Given the description of an element on the screen output the (x, y) to click on. 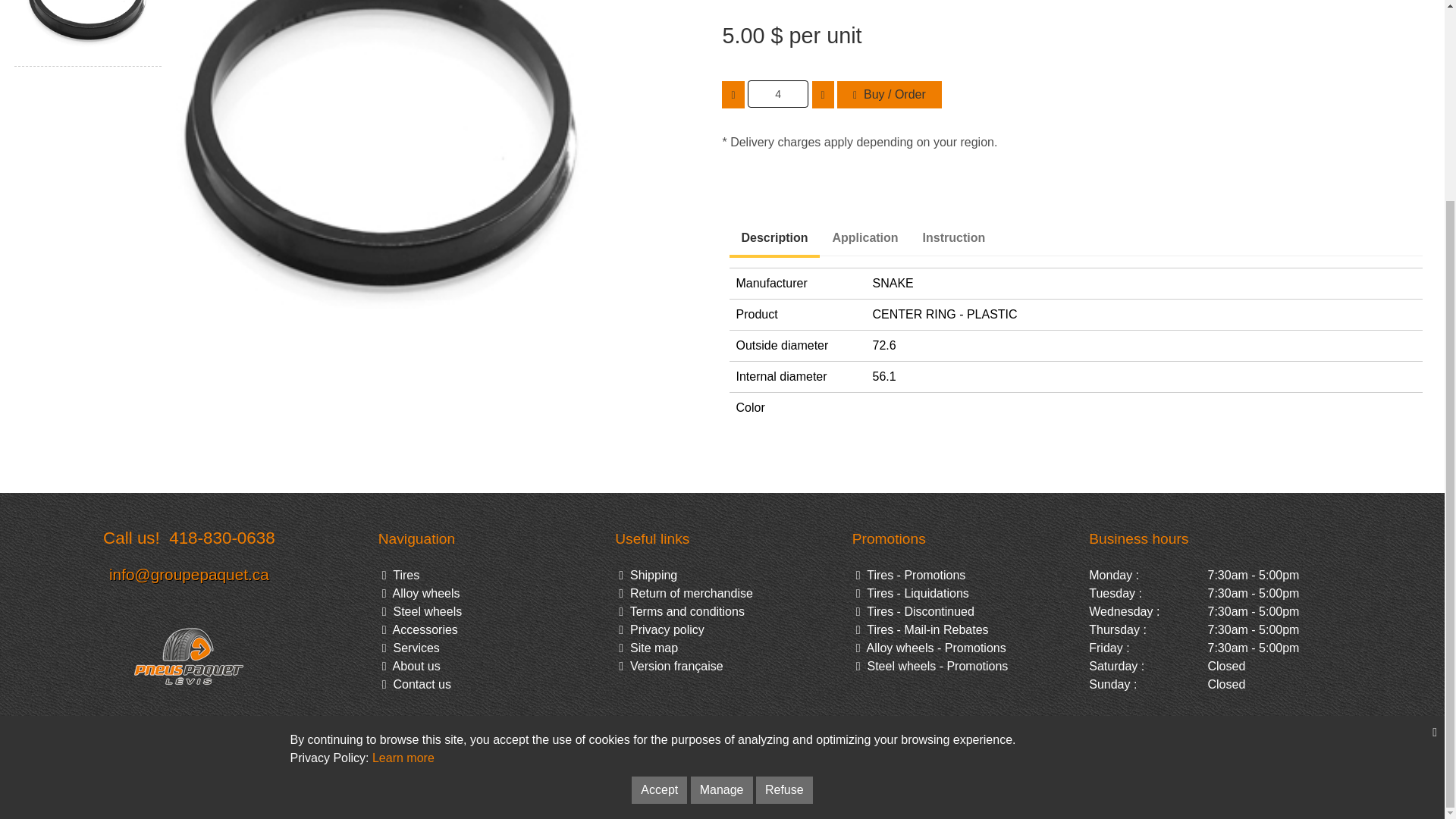
4 (778, 93)
